Given the description of an element on the screen output the (x, y) to click on. 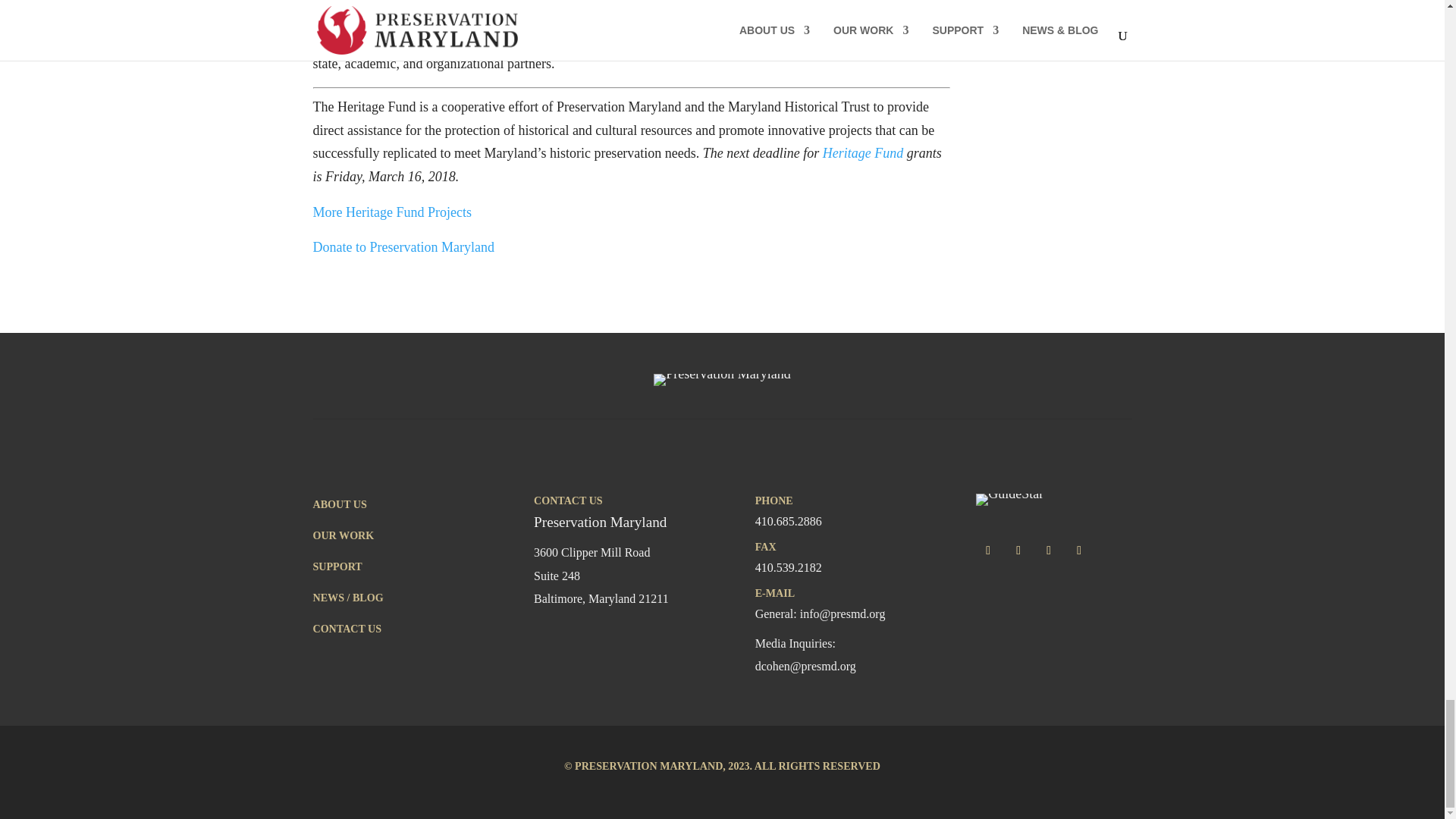
Follow on Twitter (1018, 550)
Follow on LinkedIn (1078, 550)
Follow on Instagram (1048, 550)
Follow on Facebook (987, 550)
